Given the description of an element on the screen output the (x, y) to click on. 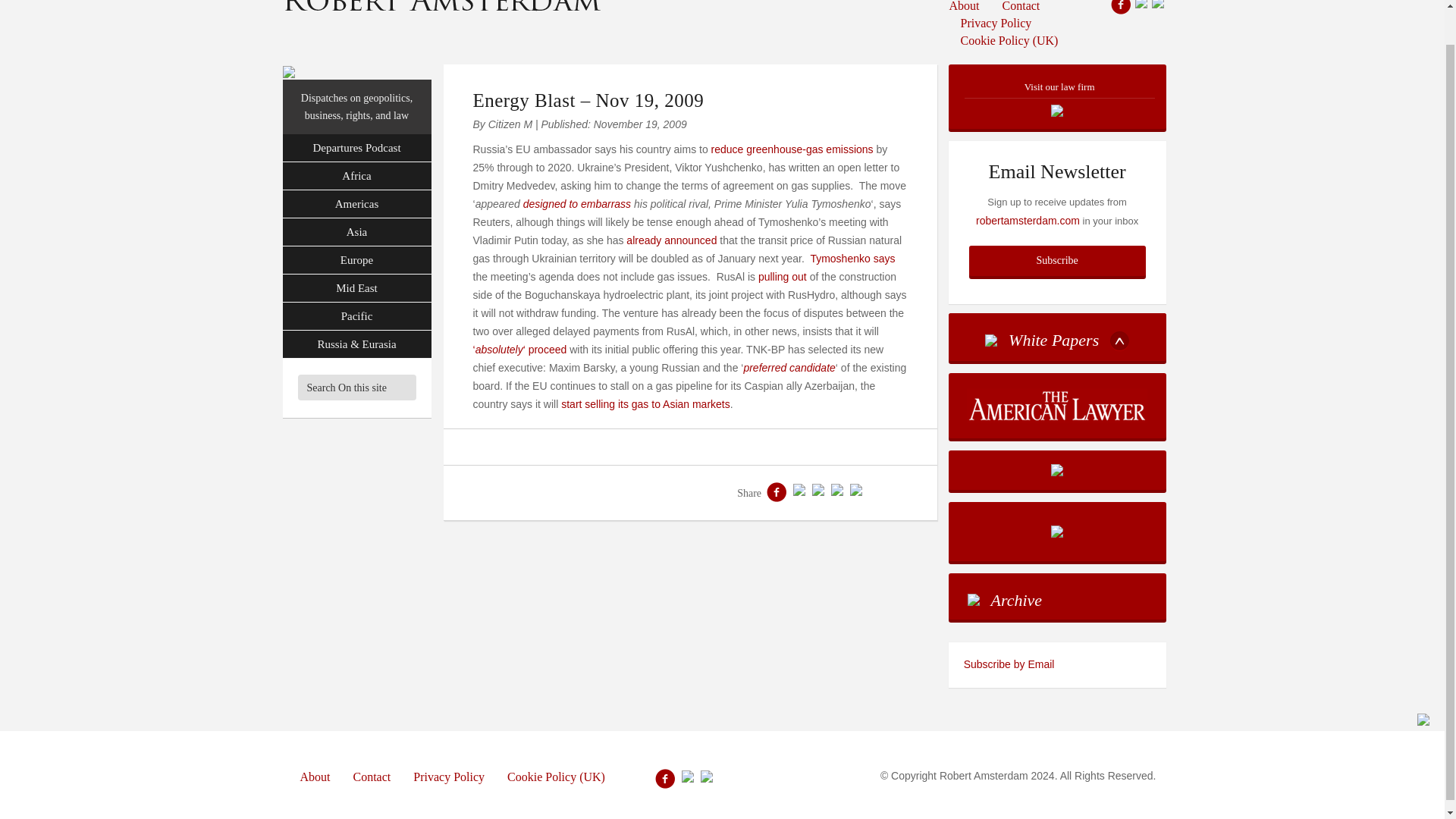
Contact (1021, 7)
Tymoshenko says (852, 258)
Subscribe to the Robert Amsterdam feed by email (1057, 664)
Asia (356, 232)
already announced (671, 240)
pulling out (782, 276)
About (970, 7)
absolutely (499, 349)
Pacific (356, 316)
Europe (356, 260)
Privacy Policy (996, 23)
designed to embarrass (576, 203)
White Papers (1057, 336)
reduce greenhouse-gas emissions (792, 149)
Africa (356, 176)
